Given the description of an element on the screen output the (x, y) to click on. 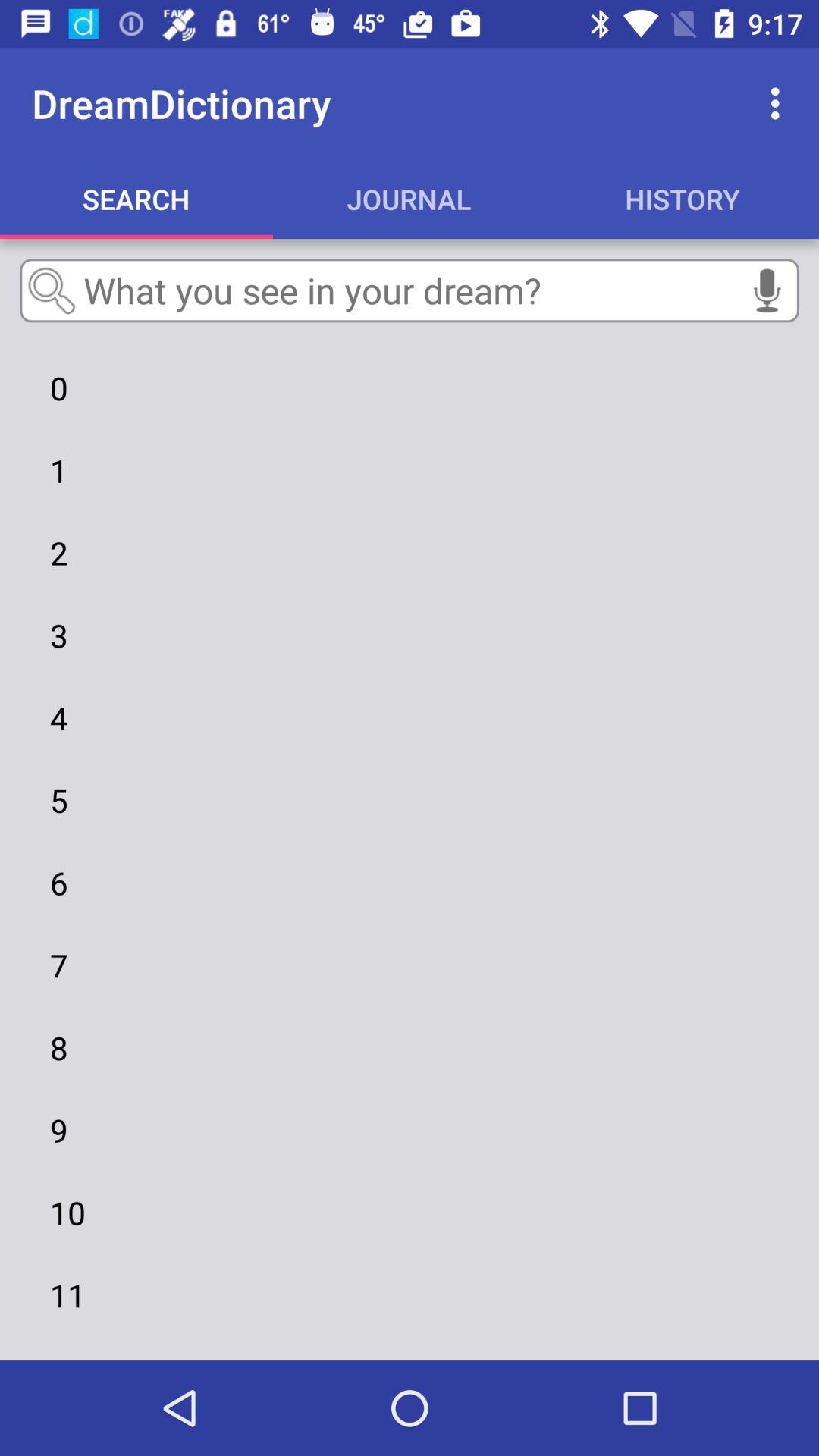
select the icon to the right of the dreamdictionary app (779, 103)
